Given the description of an element on the screen output the (x, y) to click on. 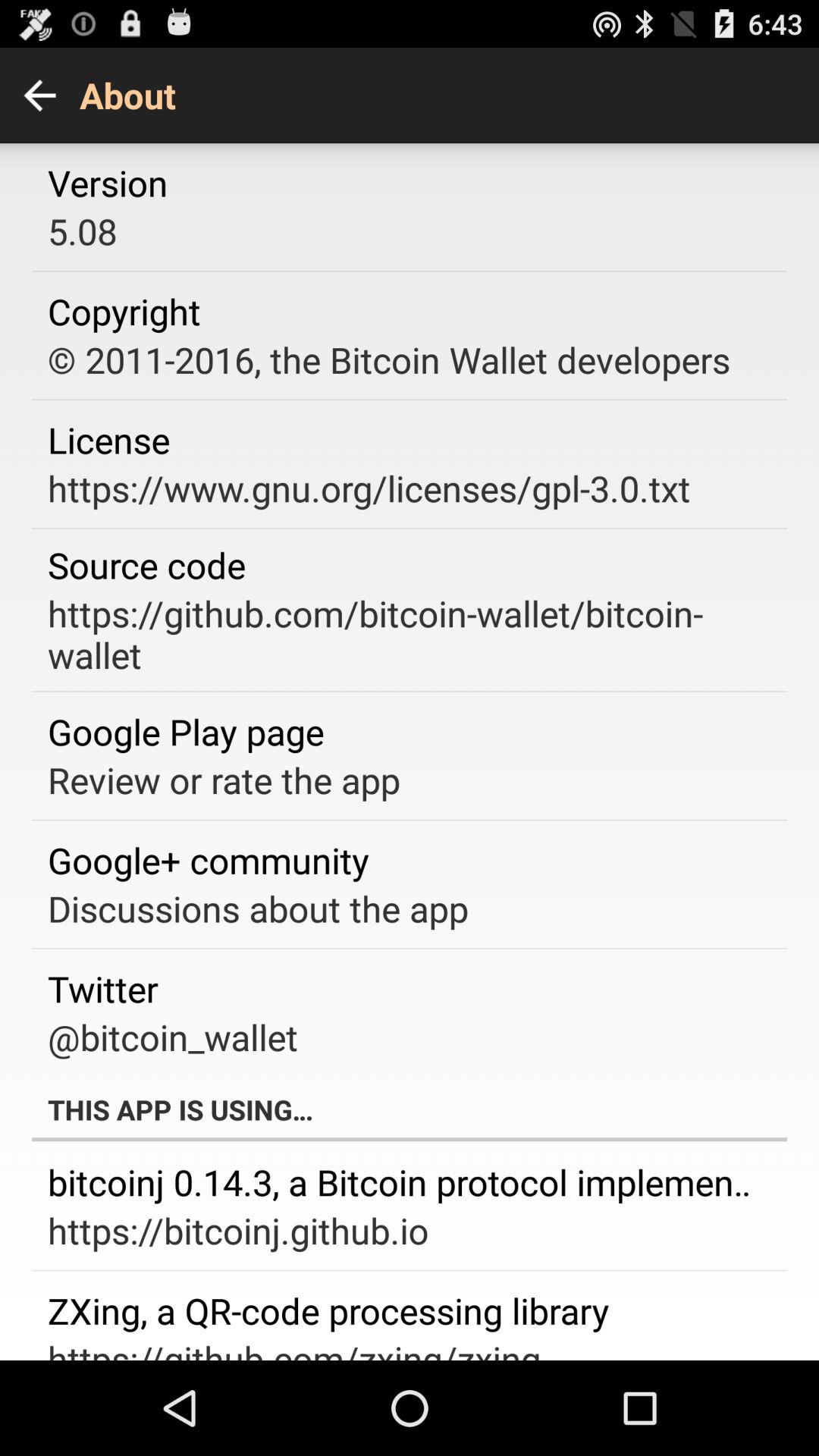
swipe to the google+ community icon (208, 860)
